Given the description of an element on the screen output the (x, y) to click on. 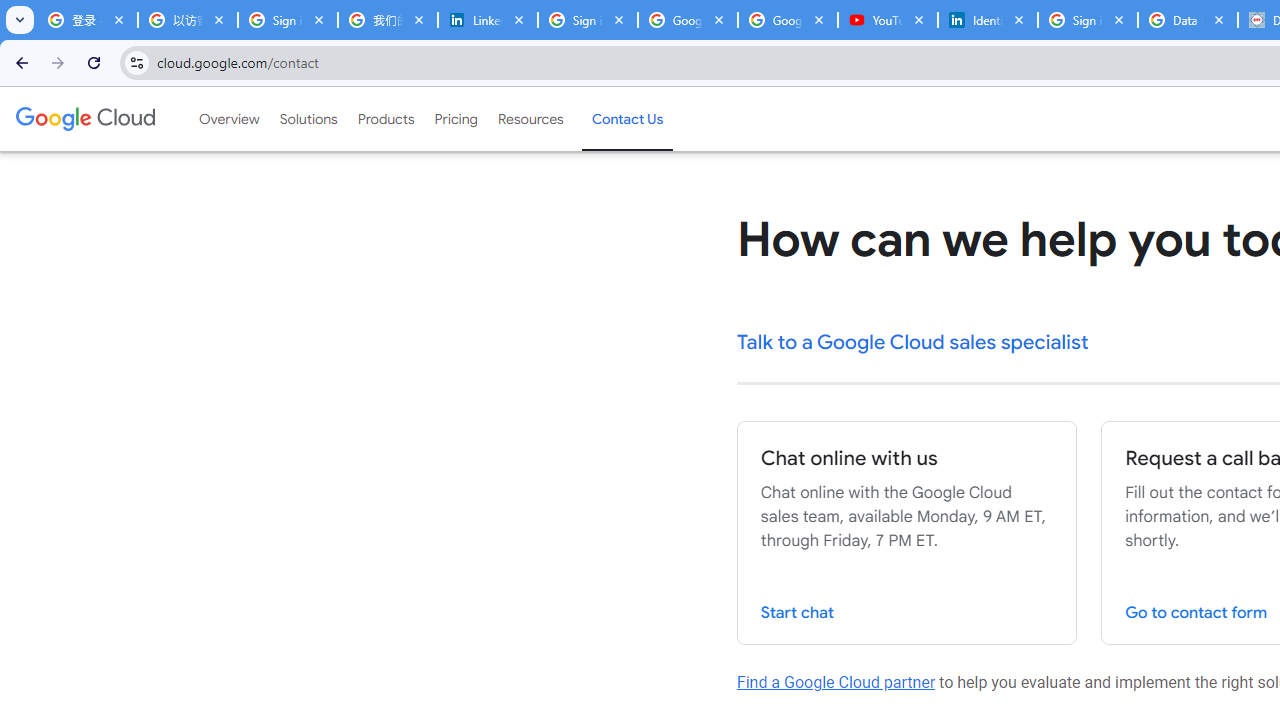
Pricing (455, 119)
LinkedIn Privacy Policy (487, 20)
Sign in - Google Accounts (587, 20)
